Given the description of an element on the screen output the (x, y) to click on. 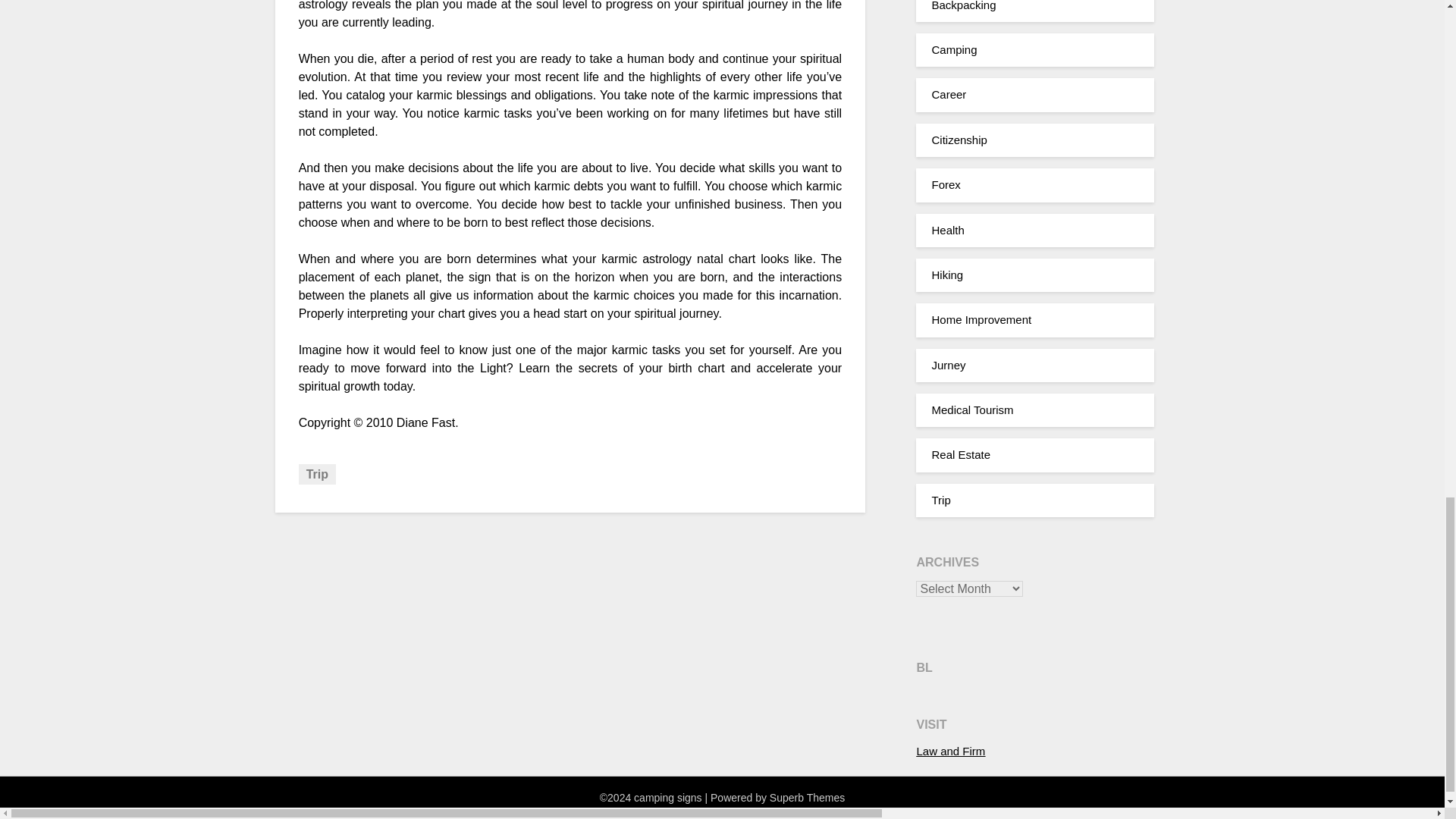
Home Improvement (980, 318)
Career (948, 93)
Citizenship (959, 139)
Backpacking (963, 5)
Trip (317, 474)
Camping (953, 49)
Health (947, 229)
Hiking (946, 274)
Forex (945, 184)
